Given the description of an element on the screen output the (x, y) to click on. 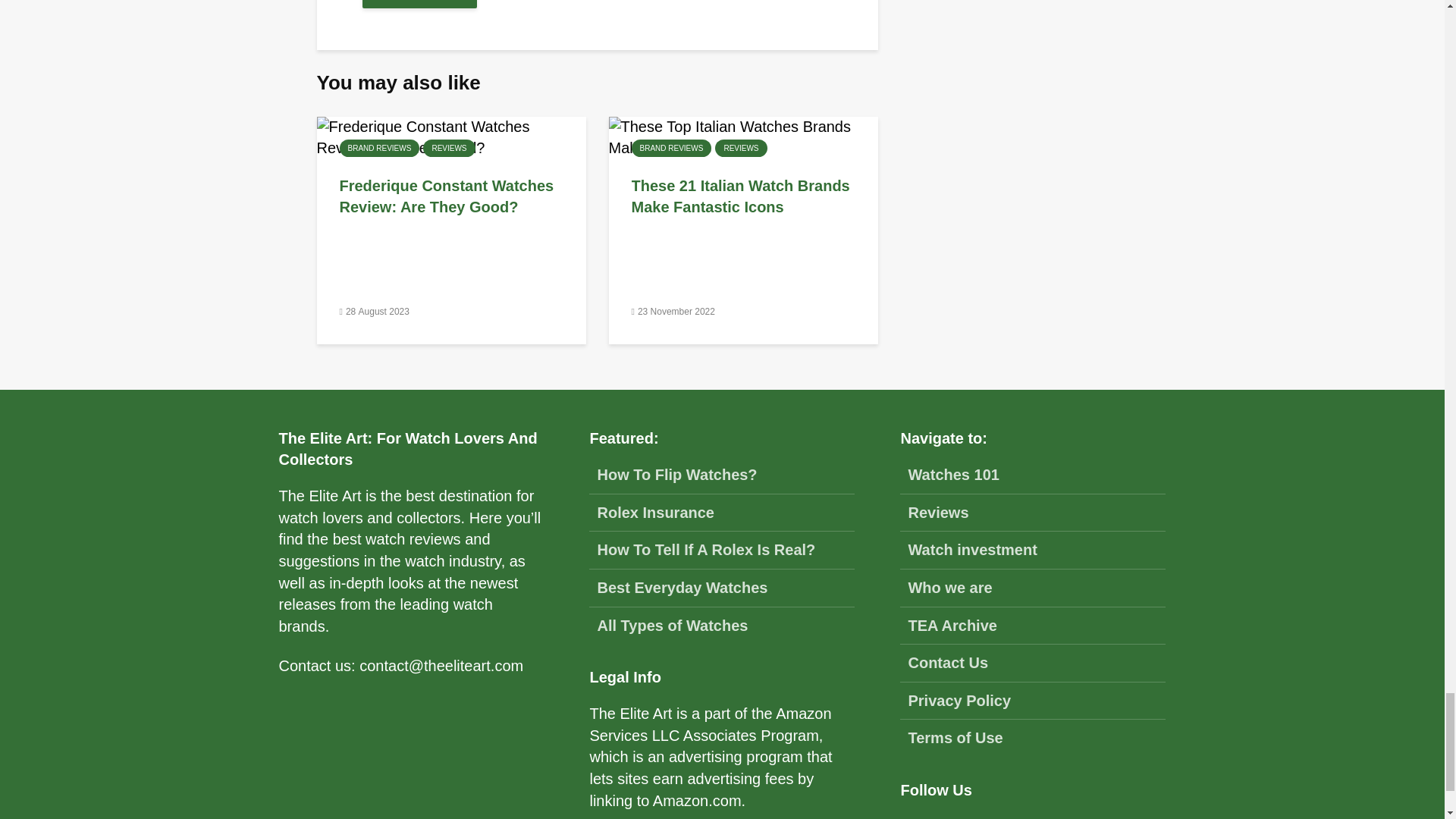
Submit Comment (419, 4)
BRAND REVIEWS (670, 148)
BRAND REVIEWS (379, 148)
REVIEWS (740, 148)
REVIEWS (448, 148)
These 21 Italian Watch Brands Make Fantastic Icons (742, 196)
Frederique Constant Watches Review: Are They Good? (451, 196)
Frederique Constant Watches Review: Are They Good? (451, 135)
Submit Comment (419, 4)
These 21 Italian Watch Brands Make Fantastic Icons (742, 135)
